Given the description of an element on the screen output the (x, y) to click on. 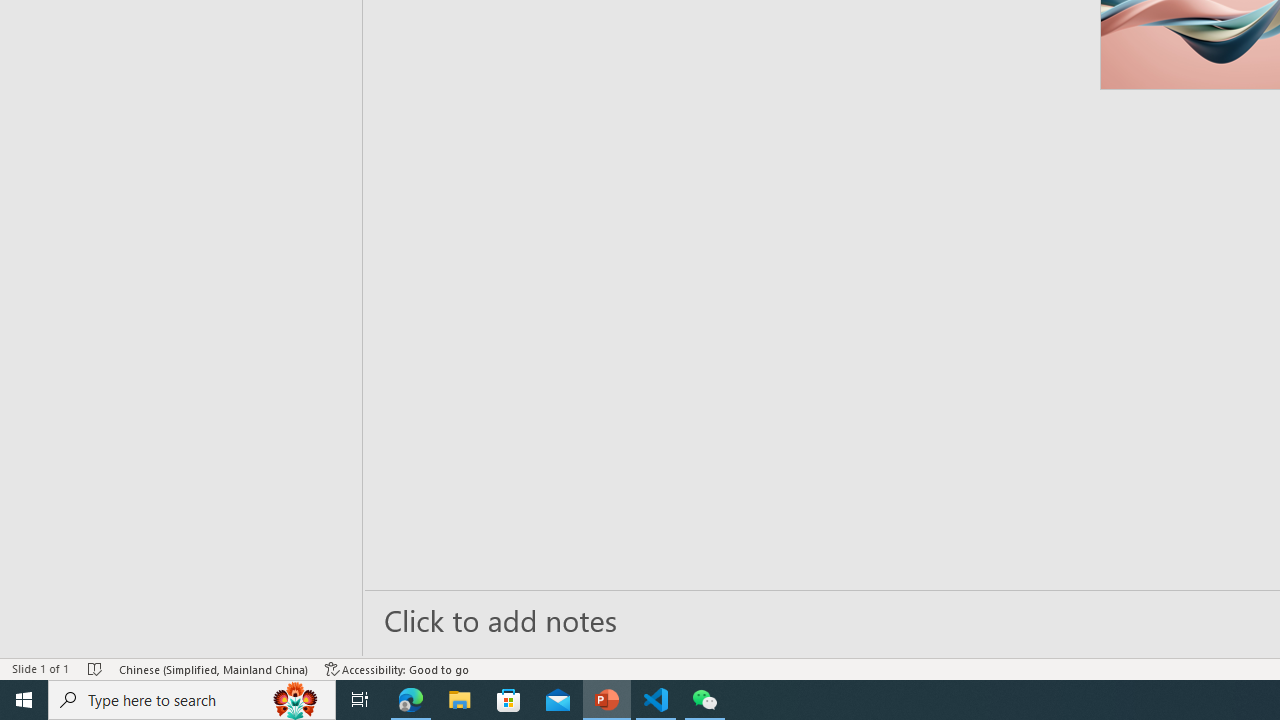
Accessibility Checker Accessibility: Good to go (397, 668)
